Given the description of an element on the screen output the (x, y) to click on. 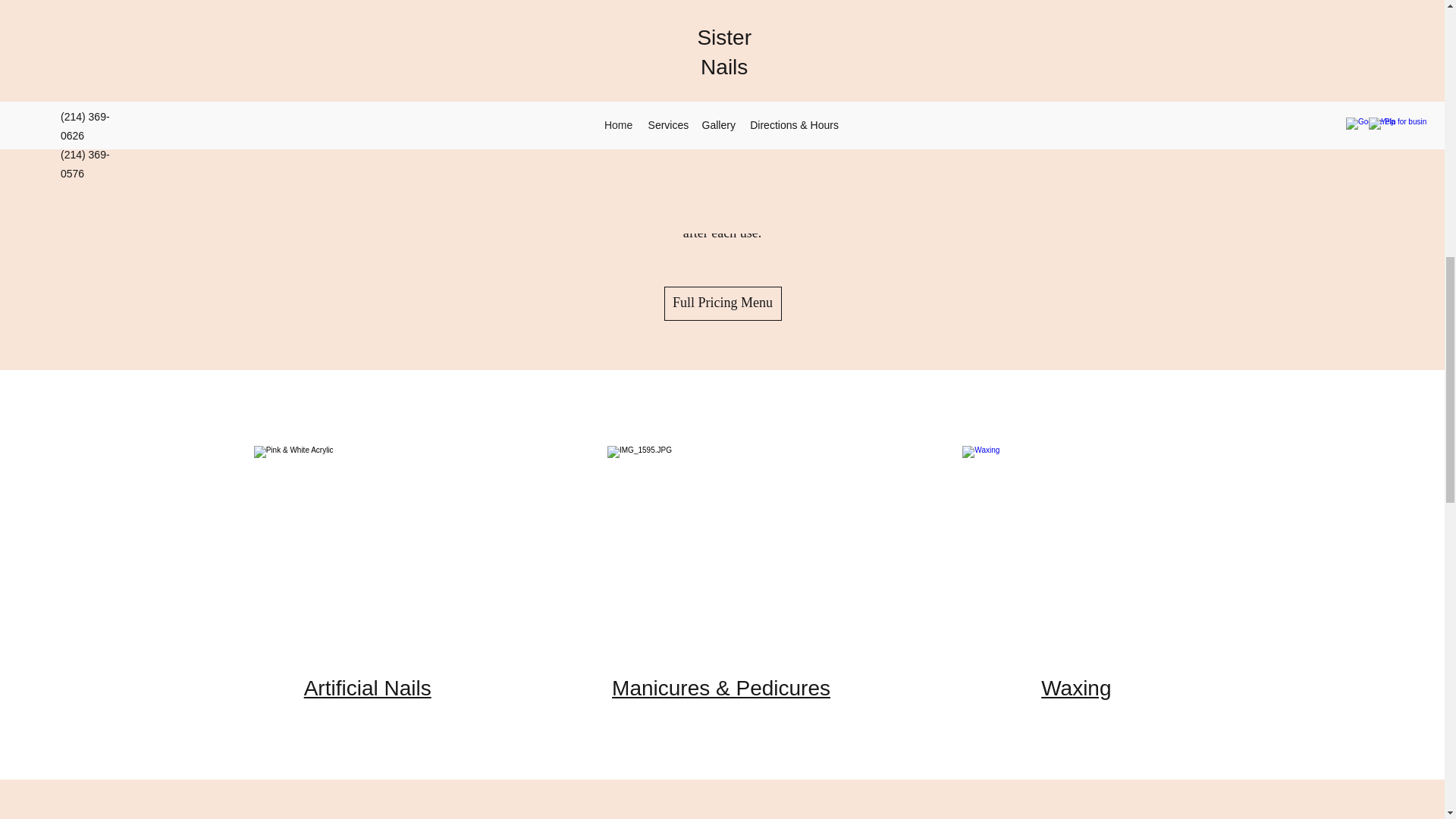
Artificial Nails (367, 688)
Waxing (1075, 688)
Full Pricing Menu (722, 303)
